Given the description of an element on the screen output the (x, y) to click on. 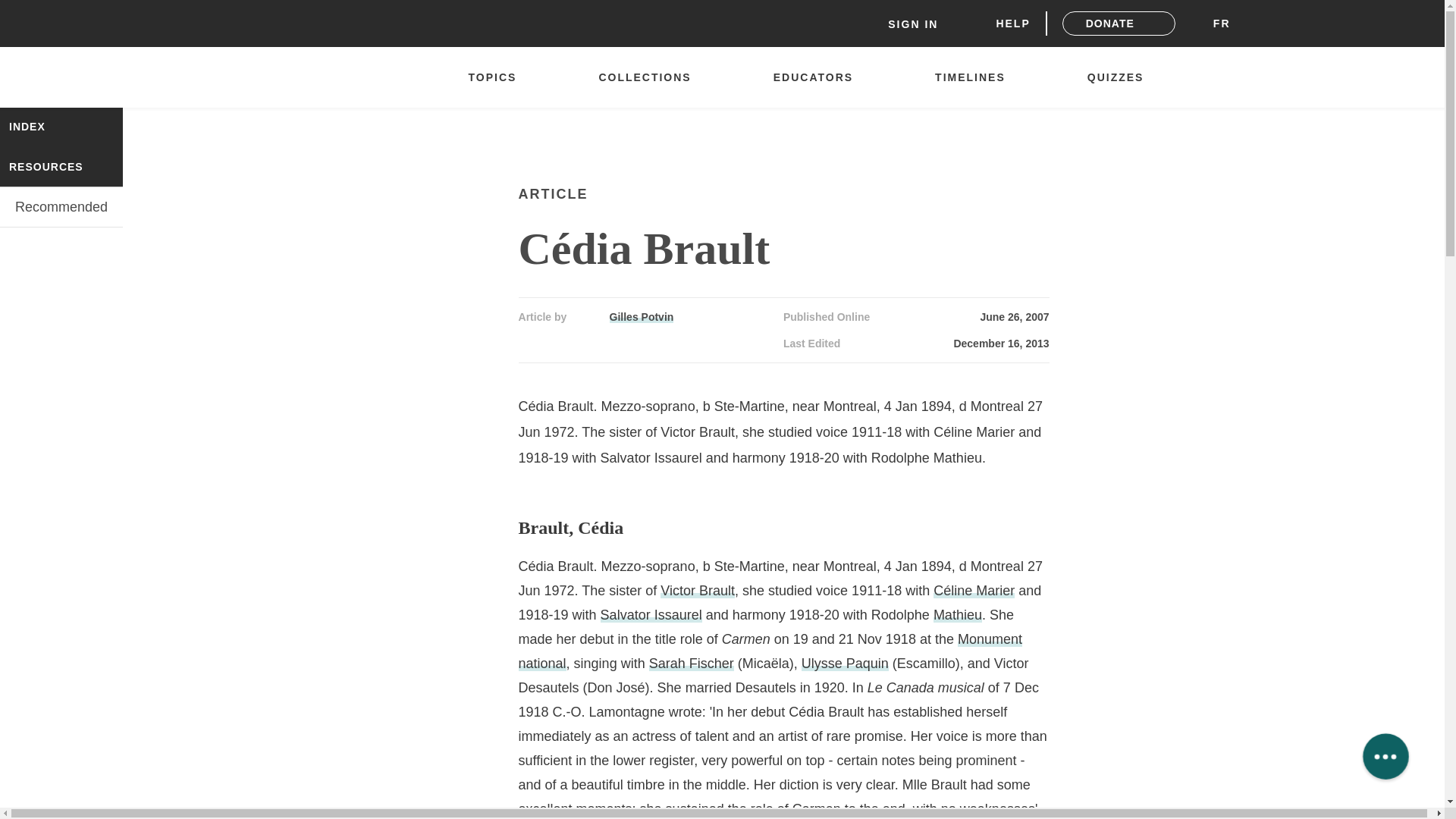
TOPICS (499, 77)
COLLECTIONS (651, 77)
